Given the description of an element on the screen output the (x, y) to click on. 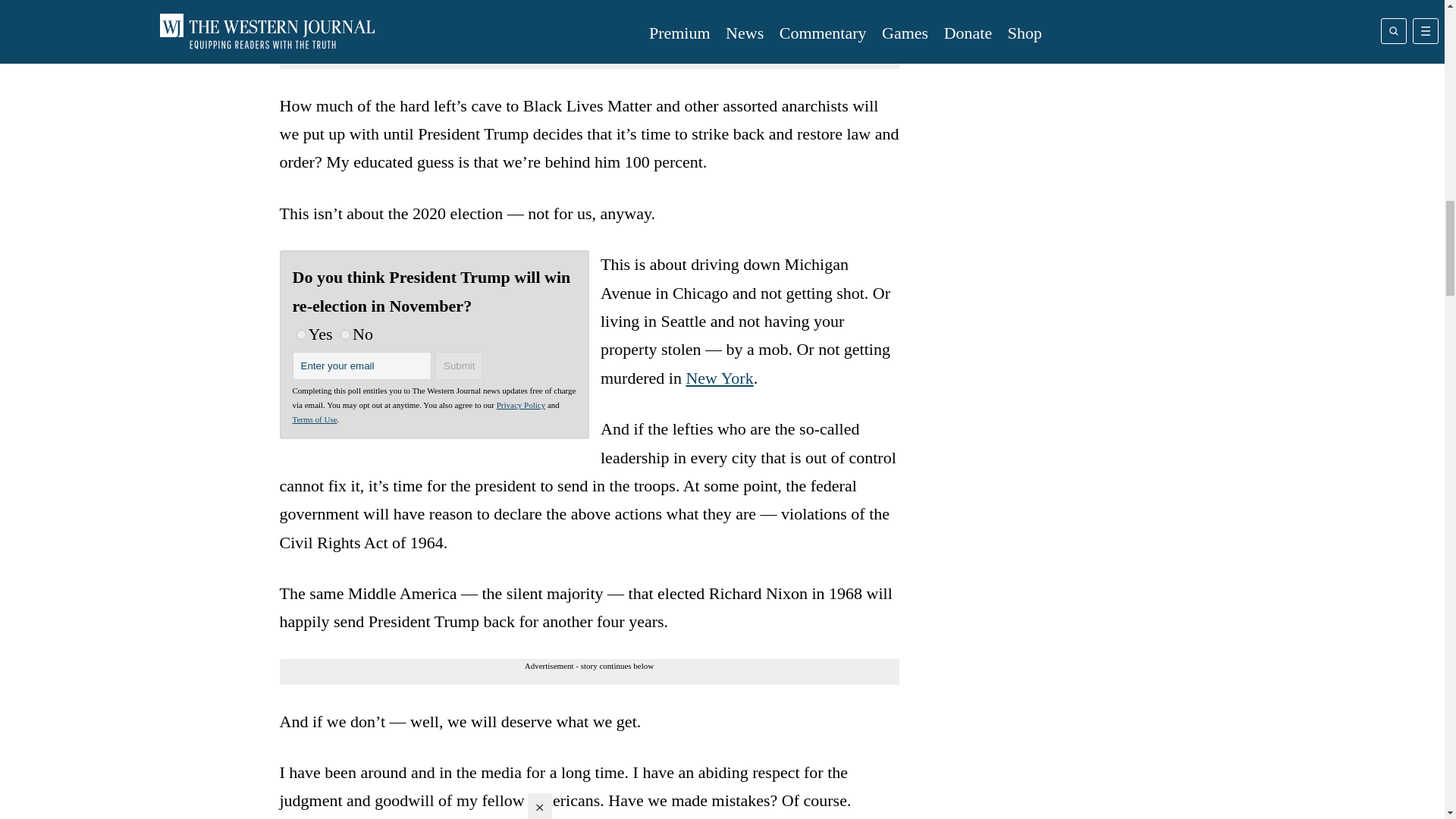
no (345, 334)
Submit (459, 366)
yes (300, 334)
